Given the description of an element on the screen output the (x, y) to click on. 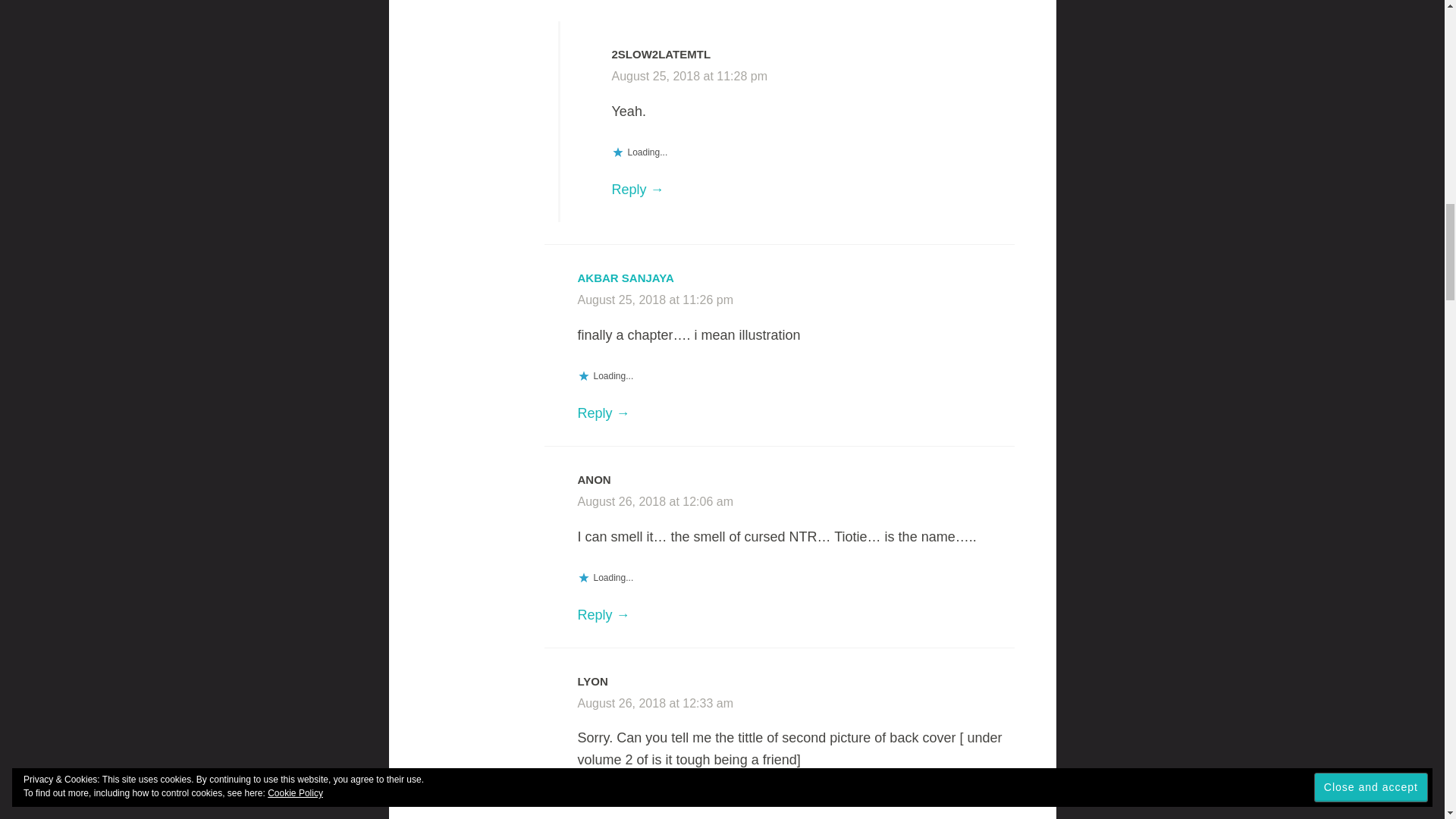
August 25, 2018 at 11:26 pm (655, 299)
August 26, 2018 at 12:06 am (655, 501)
AKBAR SANJAYA (626, 277)
August 25, 2018 at 11:28 pm (689, 75)
Reply (604, 613)
Reply (604, 412)
August 26, 2018 at 12:33 am (655, 703)
Reply (637, 189)
